Given the description of an element on the screen output the (x, y) to click on. 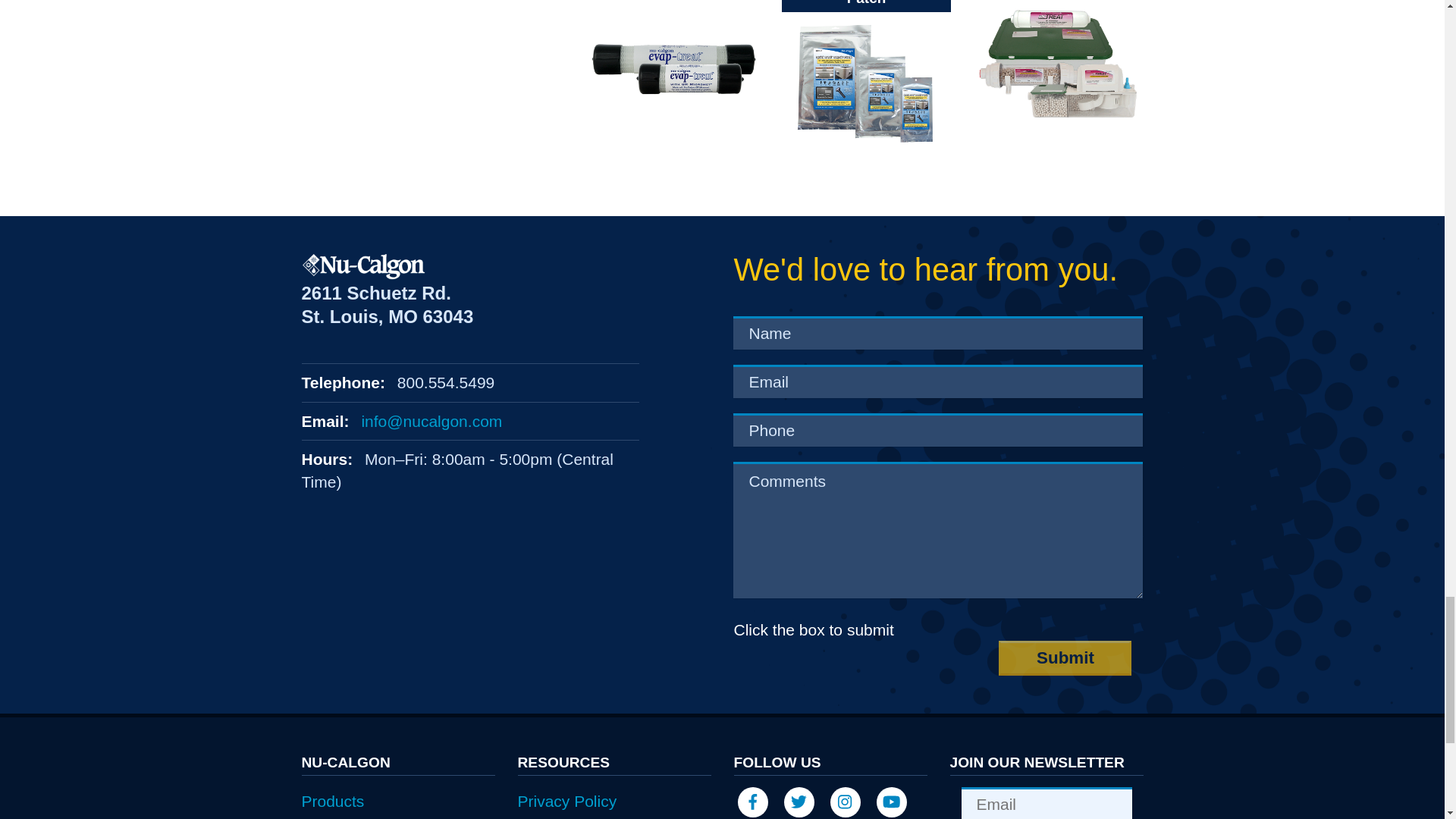
Submit (1064, 657)
